Given the description of an element on the screen output the (x, y) to click on. 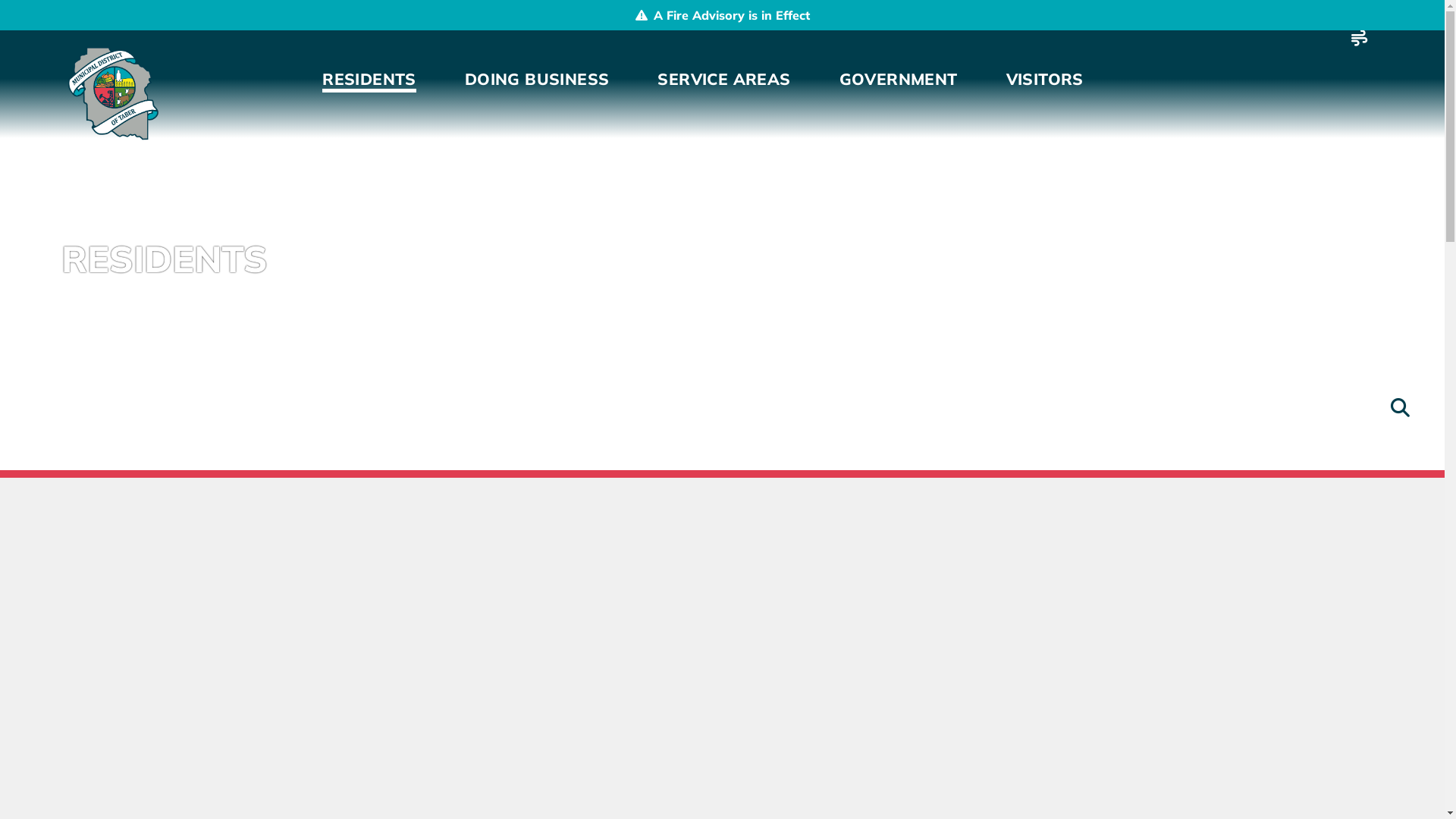
RESIDENTS Element type: text (369, 78)
GOVERNMENT Element type: text (898, 78)
DOING BUSINESS Element type: text (536, 78)
A Fire Advisory is in Effect Element type: text (722, 15)
TYPE HERE TO SEARCH CONTENTS IN OUR WEBSITE Element type: text (1402, 408)
VISITORS Element type: text (1044, 78)
Municipality of Taber Element type: text (110, 93)
SERVICE AREAS Element type: text (723, 78)
Click here to search contents in our website Element type: hover (1399, 407)
